Given the description of an element on the screen output the (x, y) to click on. 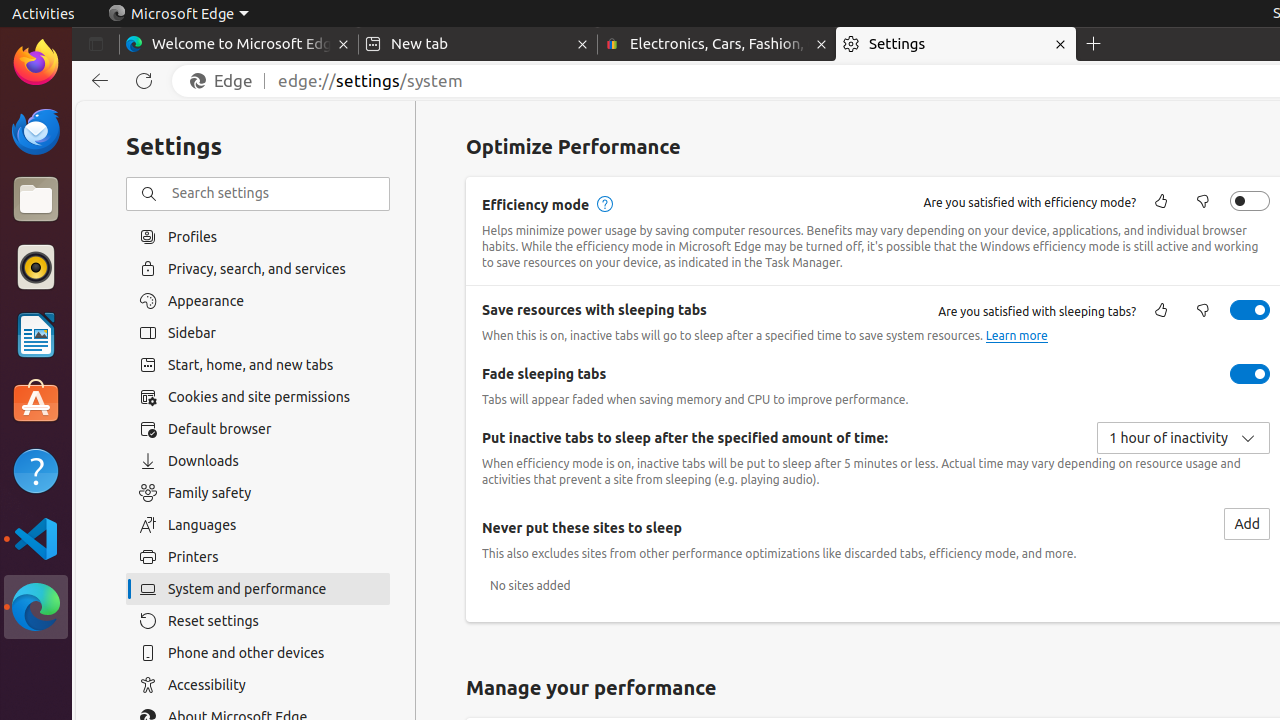
Default browser Element type: tree-item (258, 429)
Firefox Web Browser Element type: push-button (36, 63)
Sidebar Element type: tree-item (258, 333)
New Tab Element type: push-button (1094, 44)
Ubuntu Software Element type: push-button (36, 402)
